Given the description of an element on the screen output the (x, y) to click on. 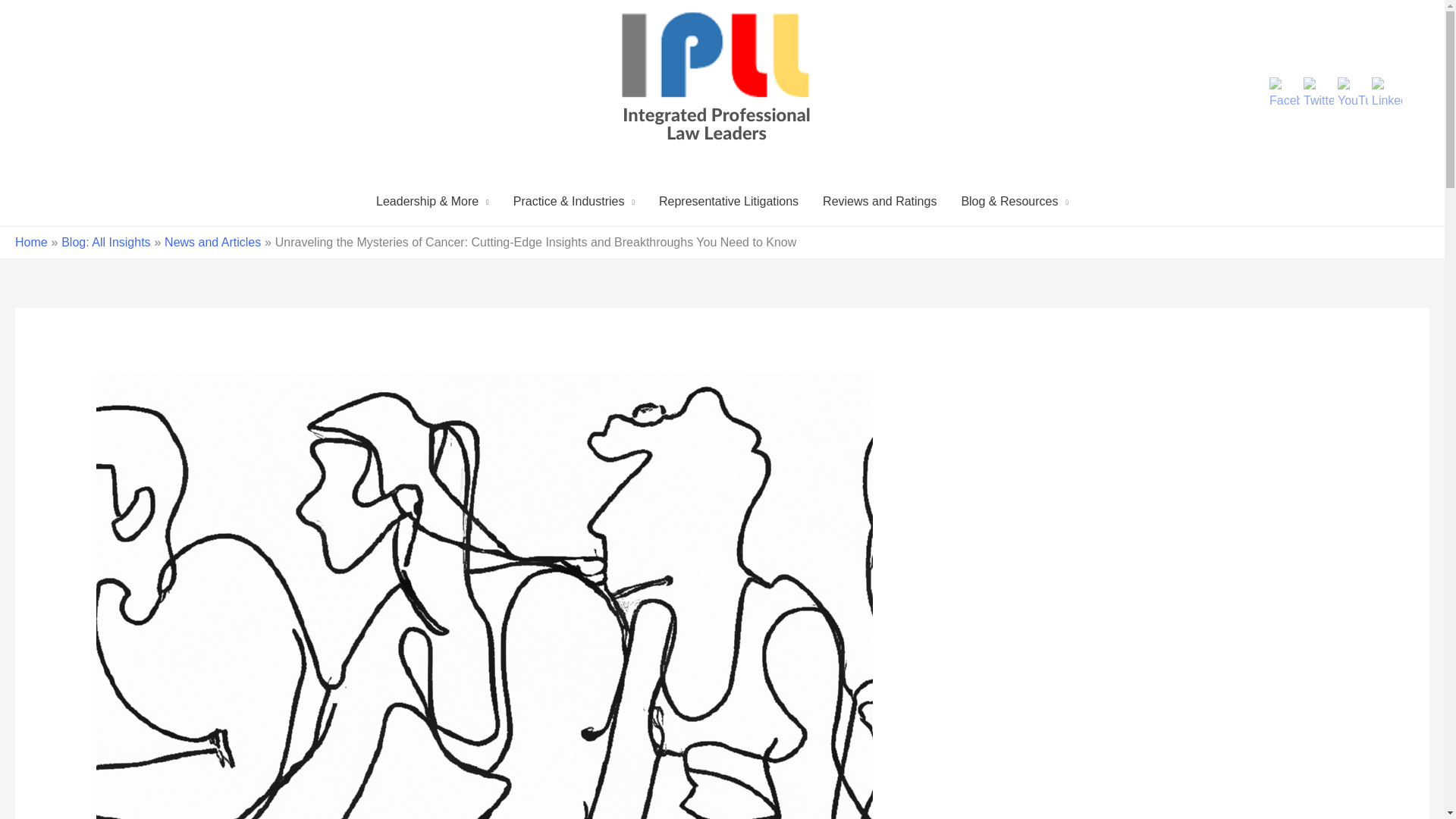
Representative Litigations (728, 201)
Blog: All Insights (105, 241)
Reviews and Ratings (879, 201)
Home (31, 241)
